Given the description of an element on the screen output the (x, y) to click on. 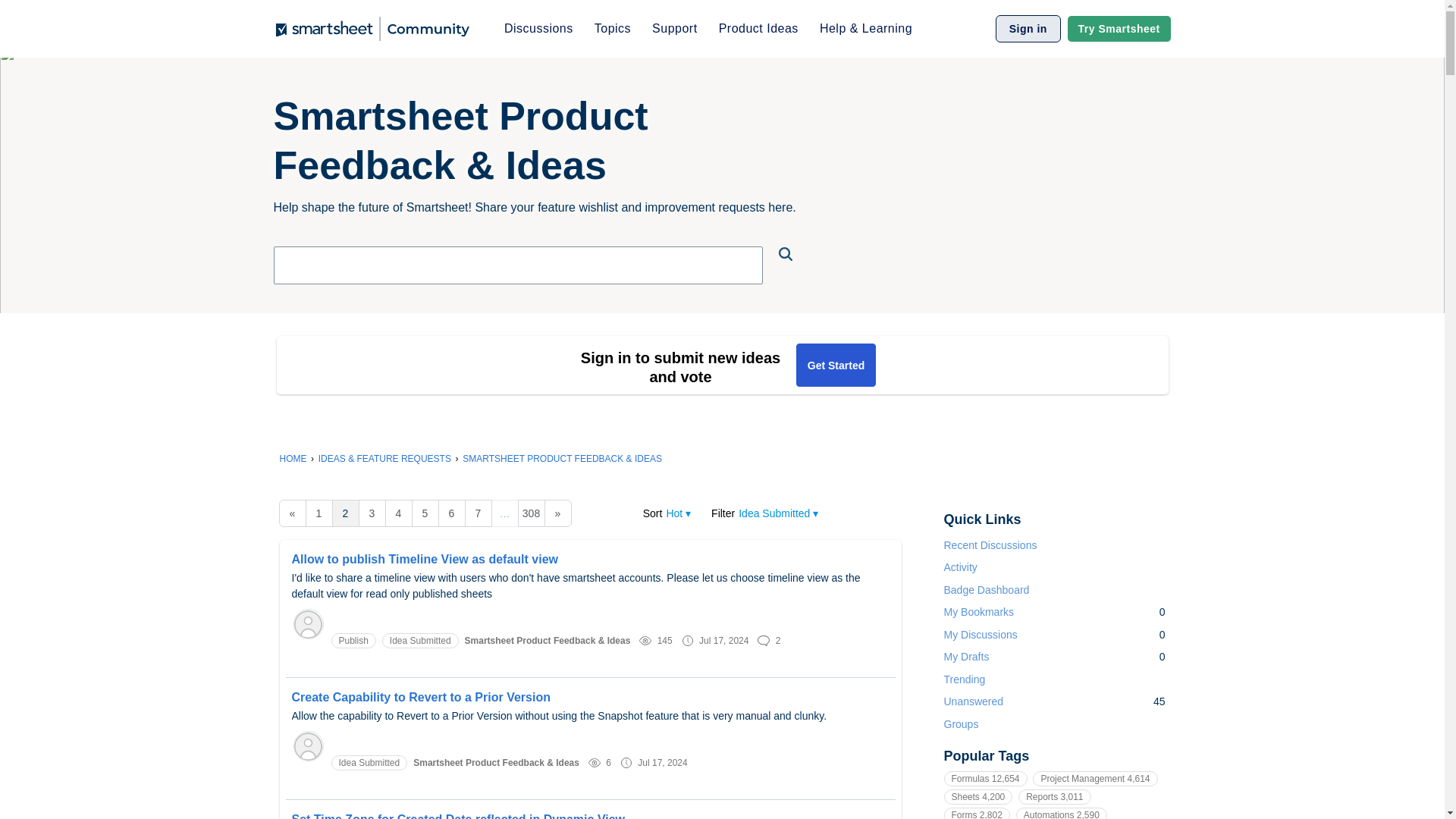
Product Ideas (759, 28)
Wednesday, July 17, 2024 at 1:09 AM (662, 761)
6 (451, 513)
Insert a query. Press enter to send (518, 265)
Rocketrox (308, 746)
HOME (292, 458)
Support (674, 28)
Discussions (538, 28)
5 (424, 513)
7 (478, 513)
2 (345, 513)
Next Page (558, 513)
308 (530, 513)
Wednesday, July 17, 2024 at 2:38 AM (723, 640)
4 (398, 513)
